Given the description of an element on the screen output the (x, y) to click on. 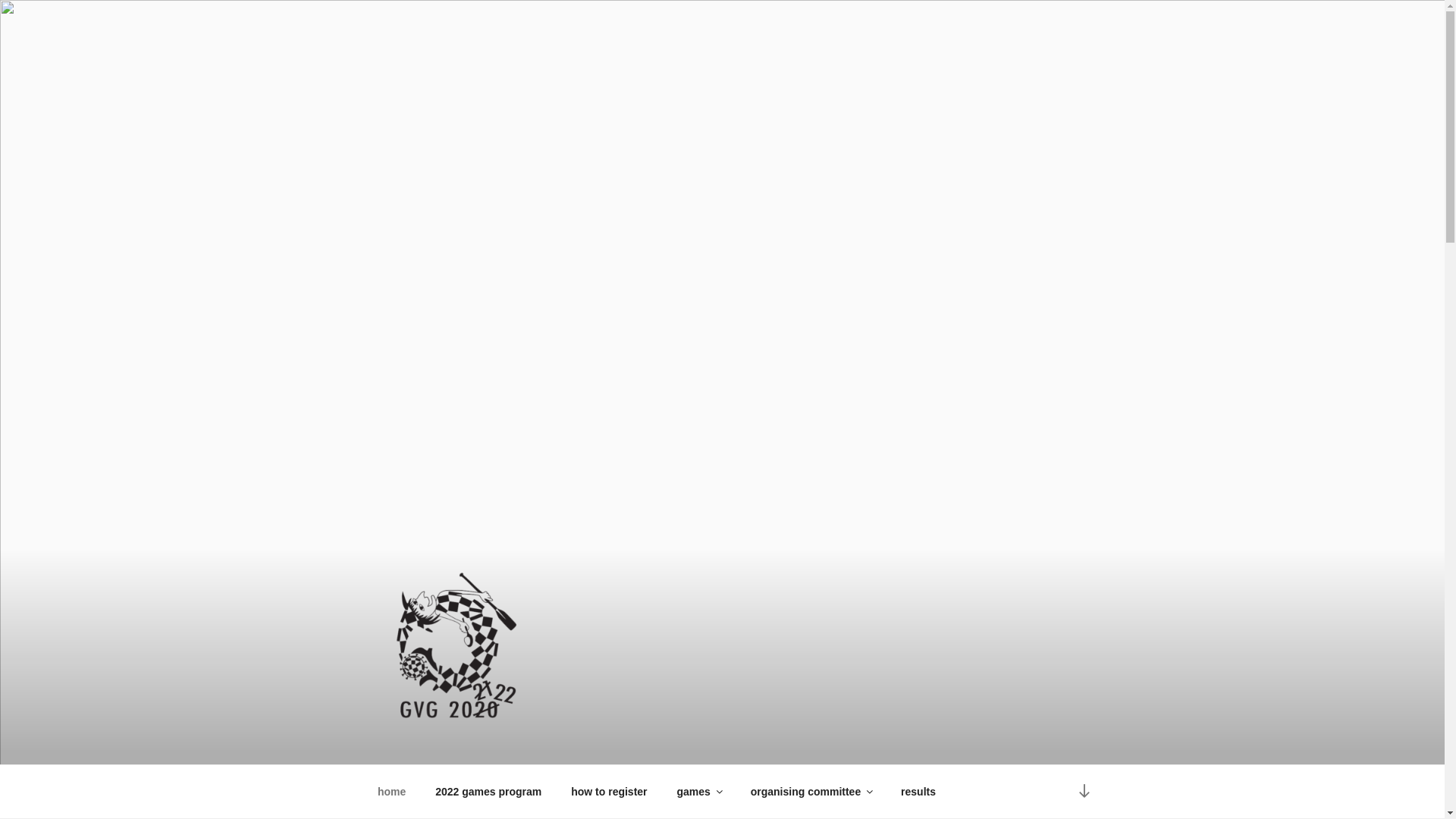
GREENWICH VILLAGE GAMES Element type: text (605, 746)
games Element type: text (698, 791)
organising committee Element type: text (810, 791)
Scroll down to content Element type: text (1083, 790)
home Element type: text (391, 791)
results Element type: text (918, 791)
2022 games program Element type: text (488, 791)
how to register Element type: text (609, 791)
